Given the description of an element on the screen output the (x, y) to click on. 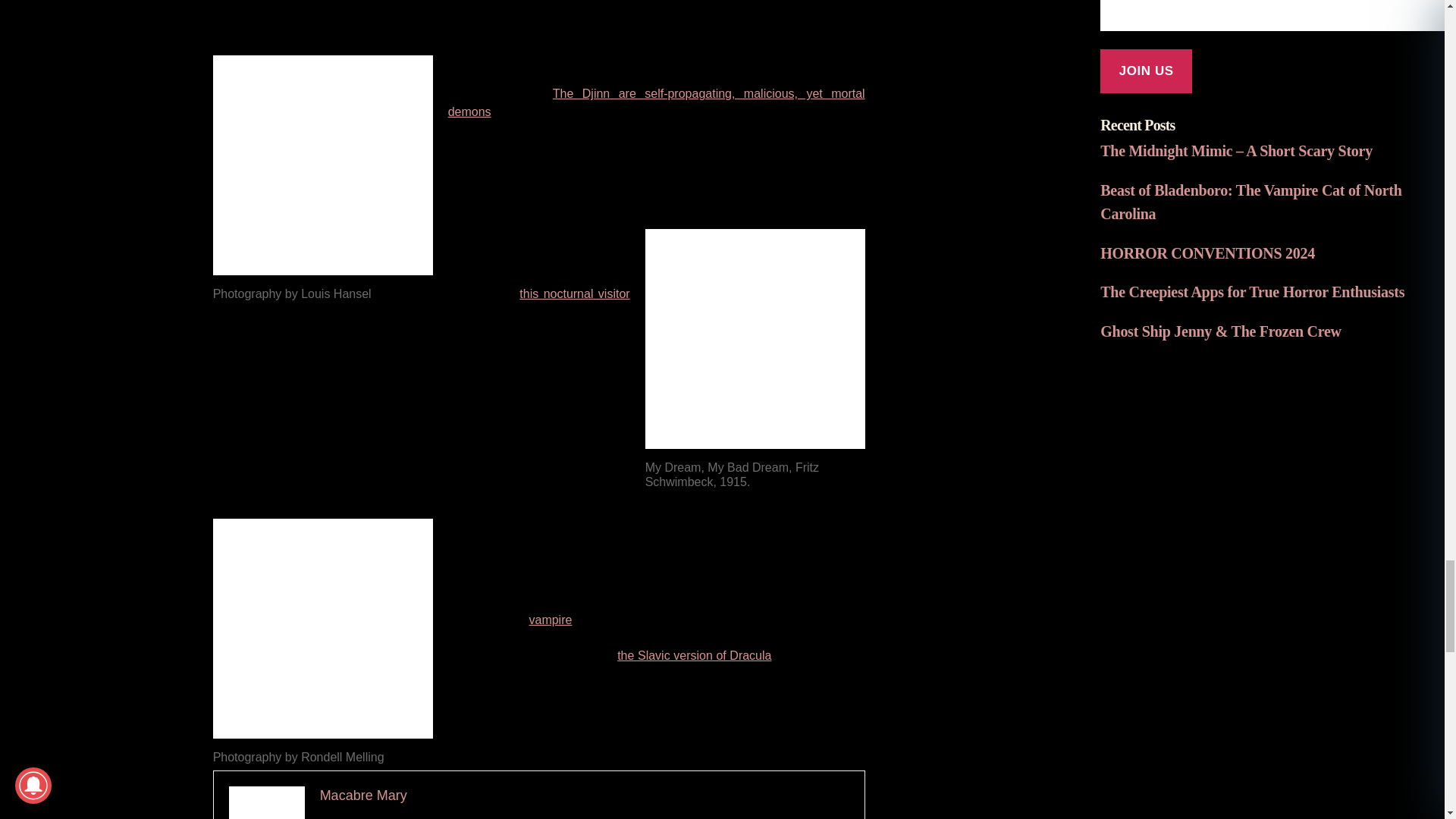
Join Us (1146, 71)
